Given the description of an element on the screen output the (x, y) to click on. 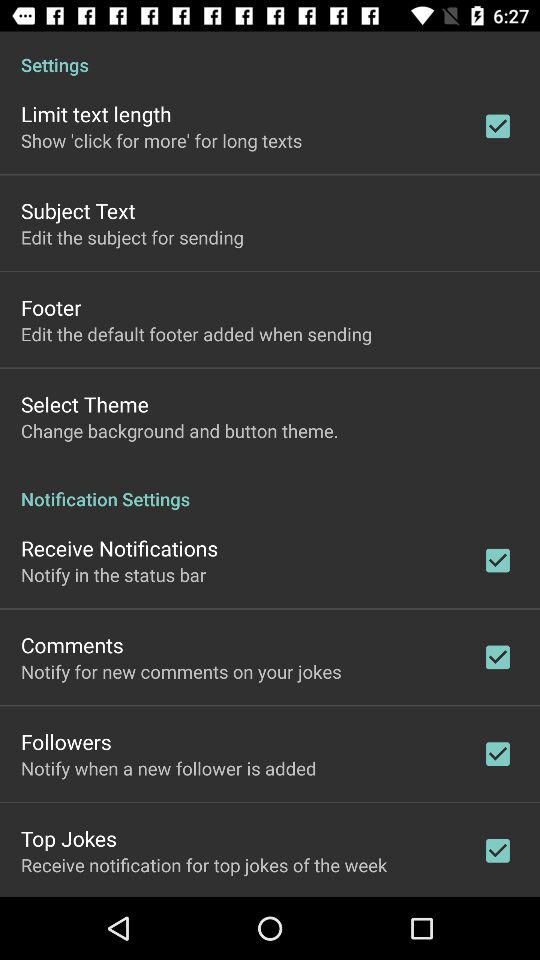
flip until the receive notifications icon (119, 547)
